Given the description of an element on the screen output the (x, y) to click on. 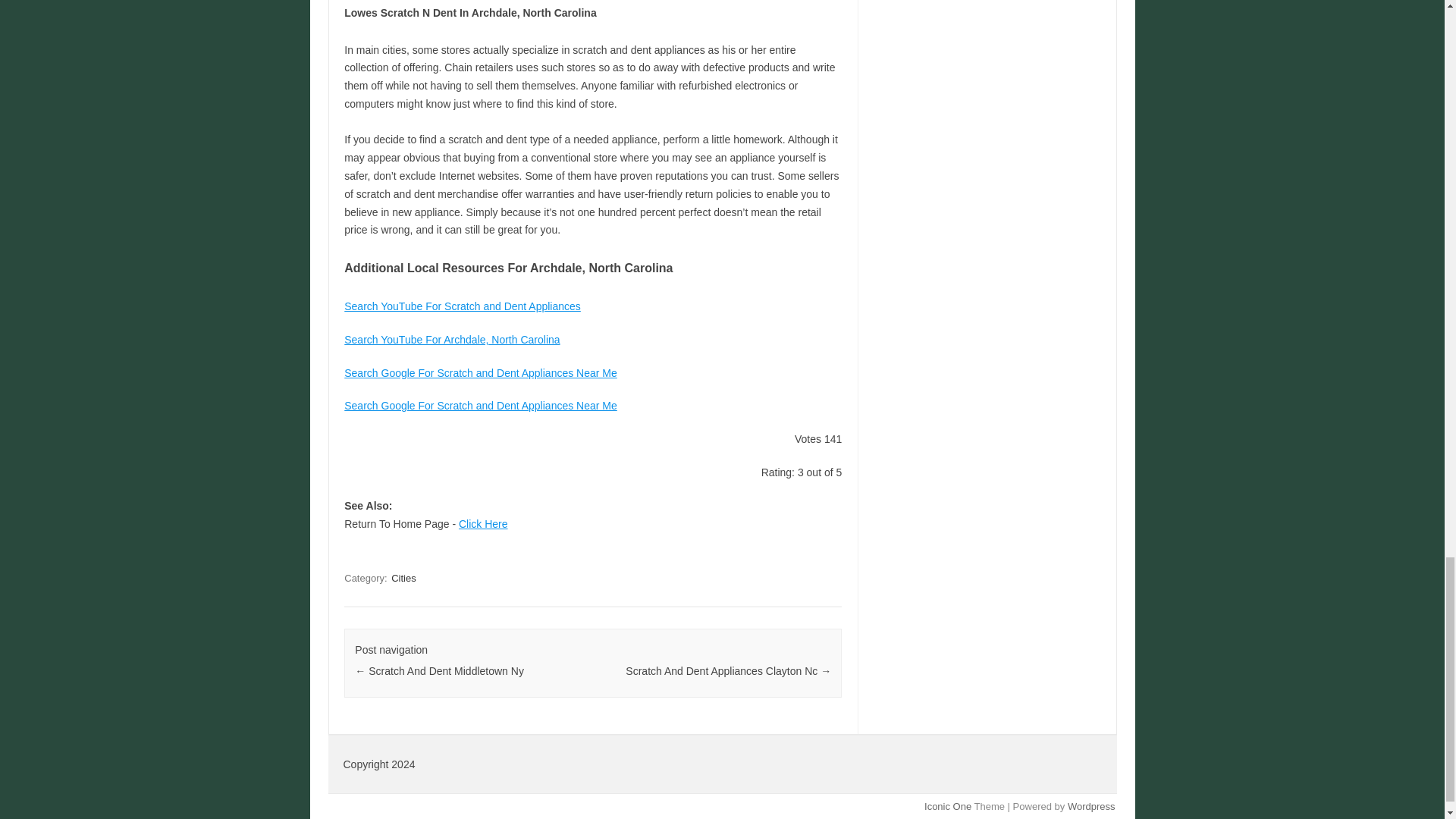
Search Google For Scratch and Dent Appliances Near Me (480, 405)
Search YouTube For Archdale, North Carolina (451, 339)
Search Google For Scratch and Dent Appliances Near Me (480, 372)
Click Here (483, 523)
Search YouTube For Scratch and Dent Appliances (461, 306)
Cities (403, 577)
